Given the description of an element on the screen output the (x, y) to click on. 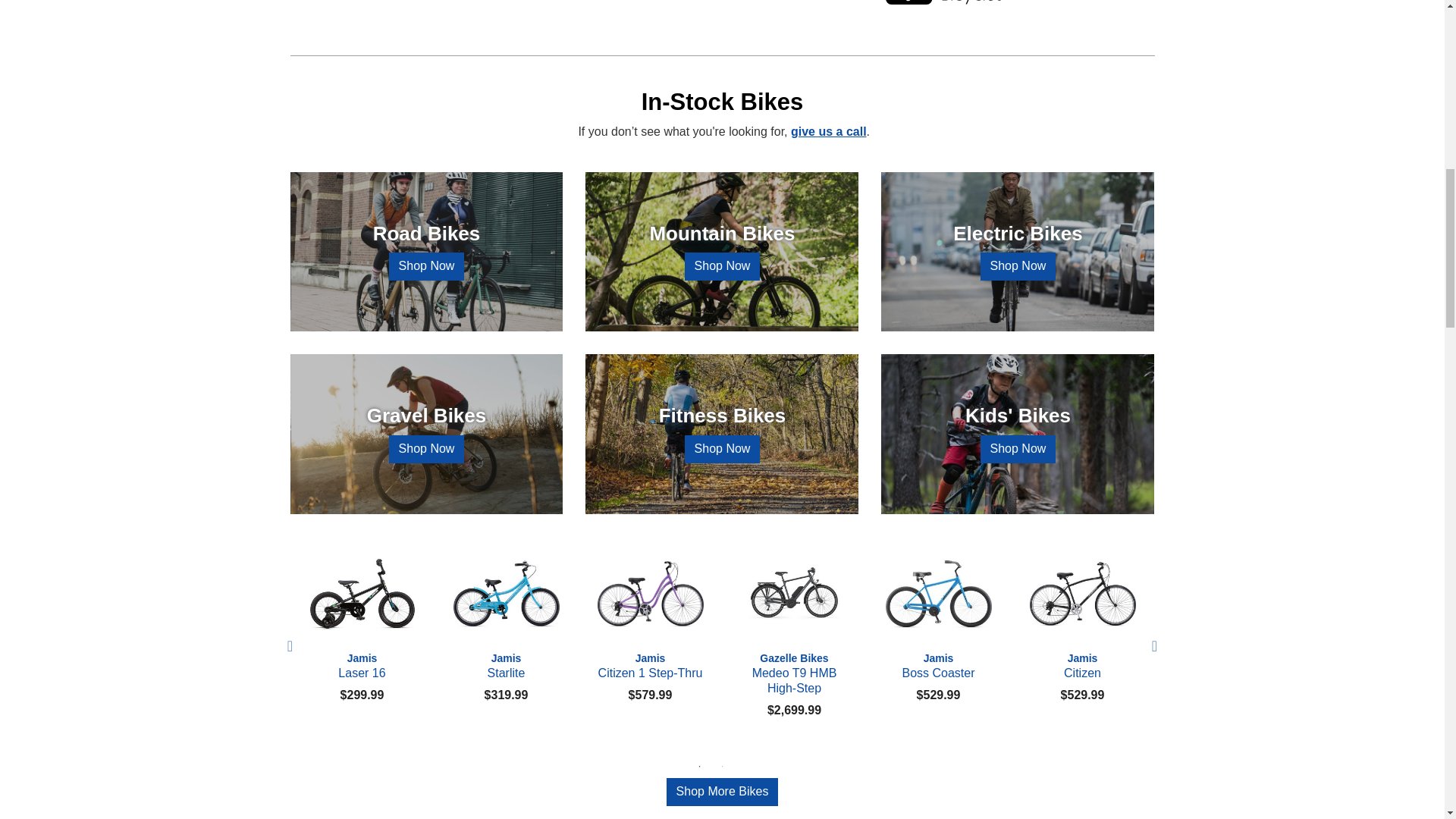
Gazelle Bikes Medeo T9 HMB High-Step (793, 593)
Jamis Citizen (1081, 593)
Jamis Boss Coaster (937, 593)
Jamis Starlite (505, 593)
Jamis Citizen 1 Step-Thru (649, 593)
Jamis Laser 16 (361, 593)
